Given the description of an element on the screen output the (x, y) to click on. 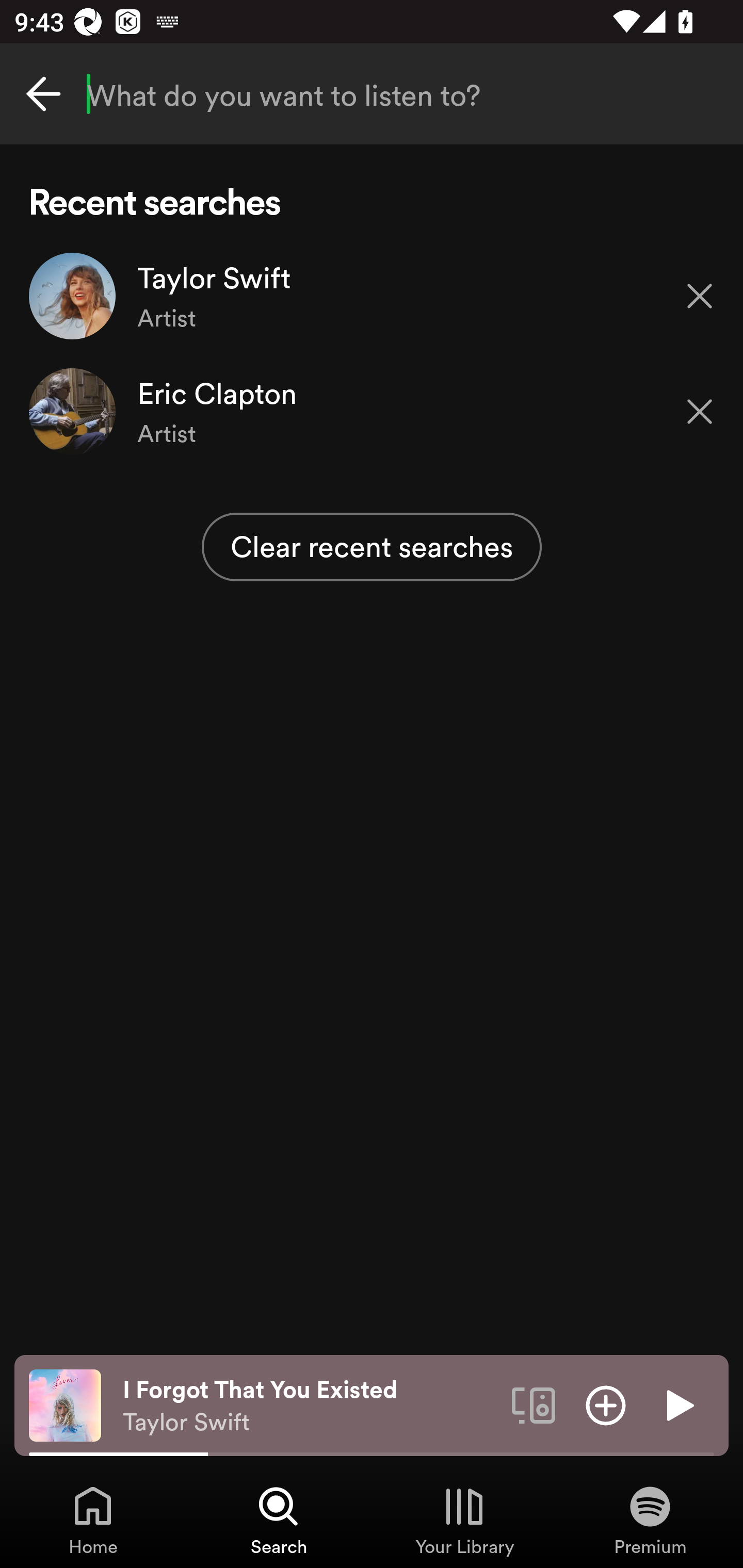
What do you want to listen to? (371, 93)
Cancel (43, 93)
Taylor Swift Artist Remove (371, 296)
Remove (699, 295)
Eric Clapton Artist Remove (371, 411)
Remove (699, 411)
Clear recent searches (371, 546)
I Forgot That You Existed Taylor Swift (309, 1405)
The cover art of the currently playing track (64, 1404)
Connect to a device. Opens the devices menu (533, 1404)
Add item (605, 1404)
Play (677, 1404)
Home, Tab 1 of 4 Home Home (92, 1519)
Search, Tab 2 of 4 Search Search (278, 1519)
Your Library, Tab 3 of 4 Your Library Your Library (464, 1519)
Premium, Tab 4 of 4 Premium Premium (650, 1519)
